Given the description of an element on the screen output the (x, y) to click on. 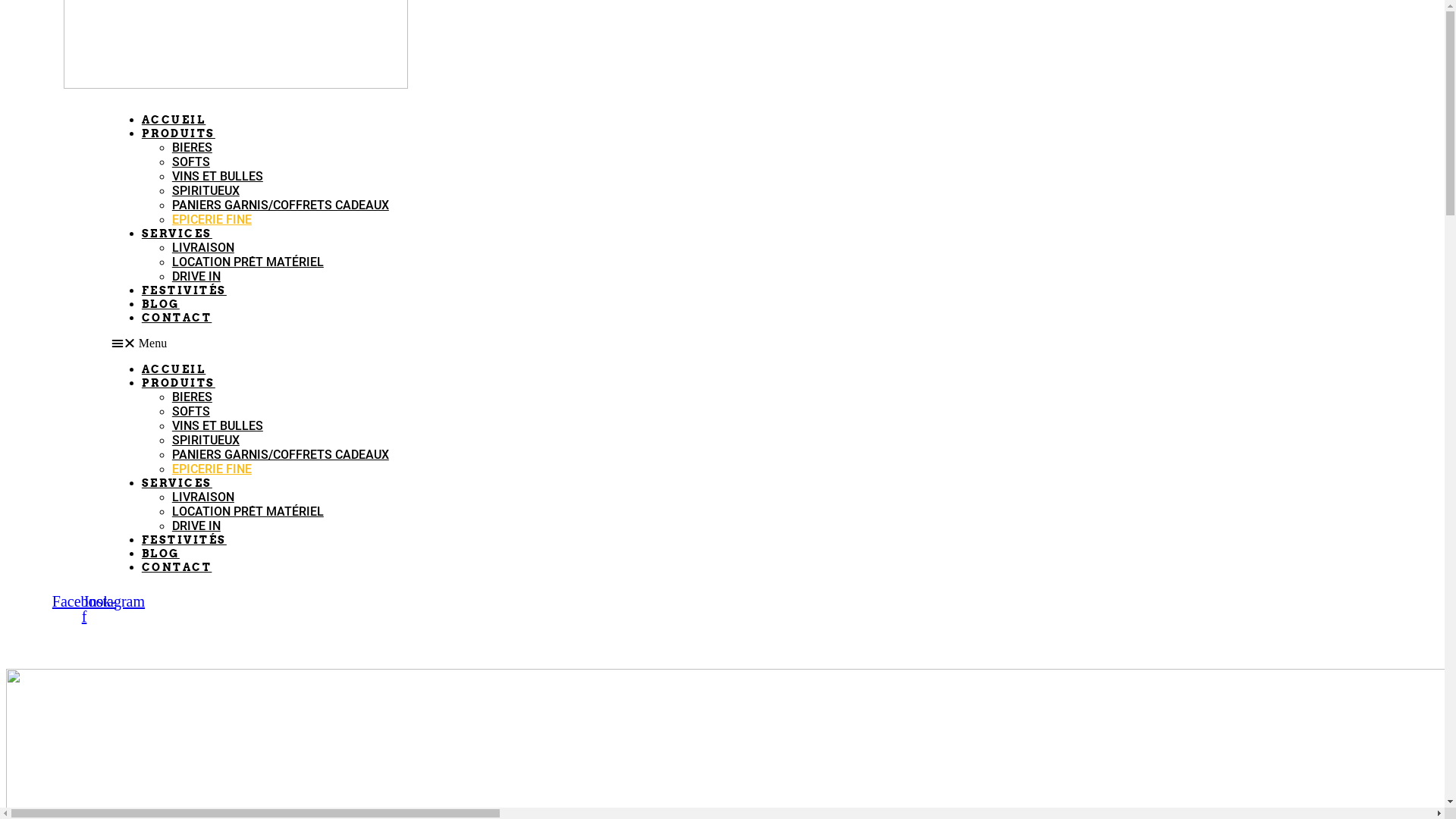
VINS ET BULLES Element type: text (217, 425)
LIVRAISON Element type: text (203, 496)
EPICERIE FINE Element type: text (211, 468)
PANIERS GARNIS/COFFRETS CADEAUX Element type: text (280, 204)
PANIERS GARNIS/COFFRETS CADEAUX Element type: text (280, 454)
Facebook-f Element type: text (84, 608)
ACCUEIL Element type: text (173, 369)
SPIRITUEUX Element type: text (205, 440)
BIERES Element type: text (192, 147)
VINS ET BULLES Element type: text (217, 176)
ACCUEIL Element type: text (173, 119)
SOFTS Element type: text (191, 161)
DRIVE IN Element type: text (196, 276)
BLOG Element type: text (160, 303)
DRIVE IN Element type: text (196, 525)
SERVICES Element type: text (176, 233)
Instagram Element type: text (114, 601)
LIVRAISON Element type: text (203, 247)
SOFTS Element type: text (191, 411)
EPICERIE FINE Element type: text (211, 219)
Aller au contenu Element type: text (6, 6)
PRODUITS Element type: text (178, 382)
SERVICES Element type: text (176, 482)
CONTACT Element type: text (176, 317)
BIERES Element type: text (192, 396)
PRODUITS Element type: text (178, 133)
SPIRITUEUX Element type: text (205, 190)
BLOG Element type: text (160, 553)
CONTACT Element type: text (176, 567)
